Given the description of an element on the screen output the (x, y) to click on. 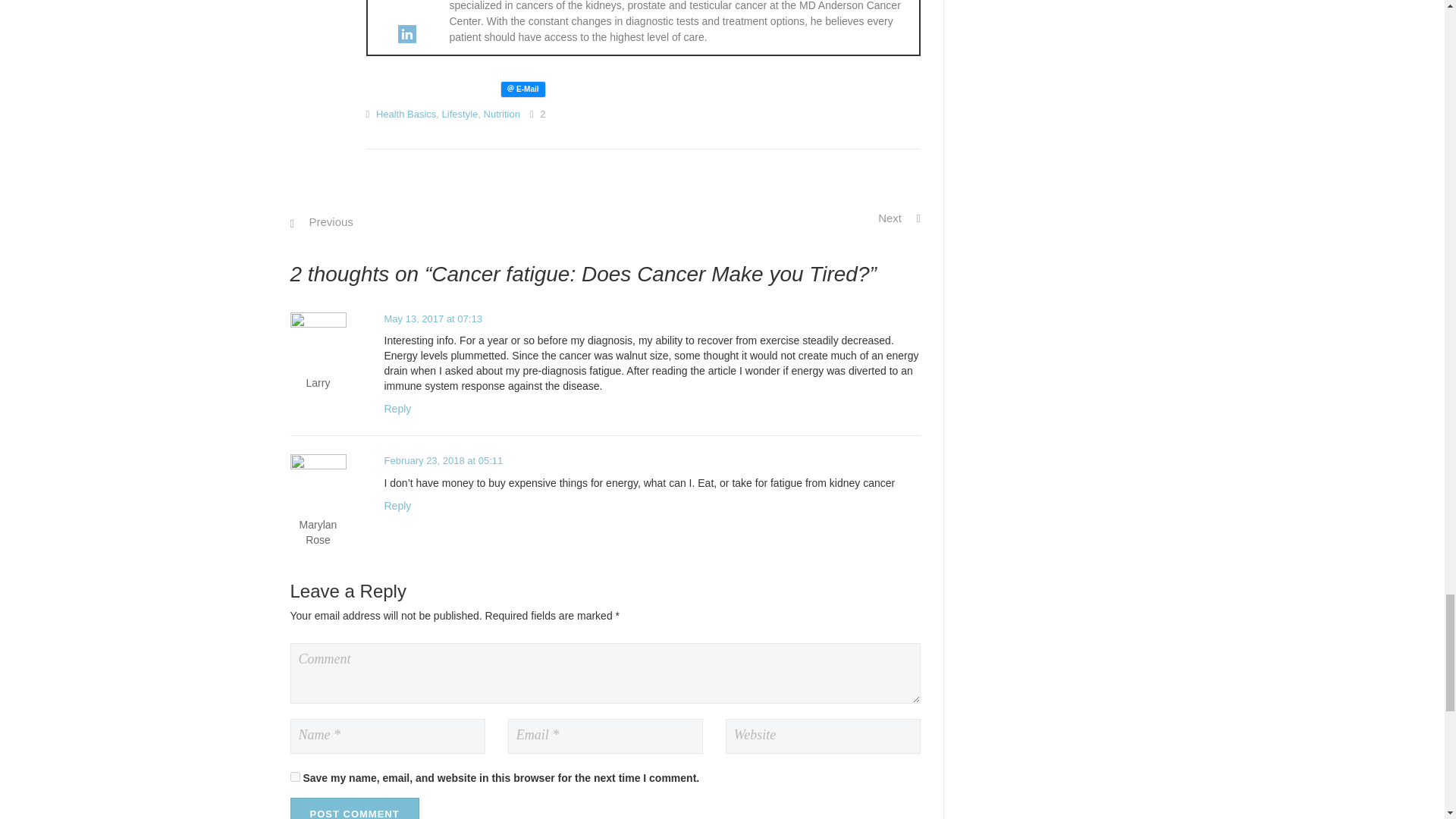
LinkedIn (405, 34)
Post Comment (354, 808)
yes (294, 777)
